Given the description of an element on the screen output the (x, y) to click on. 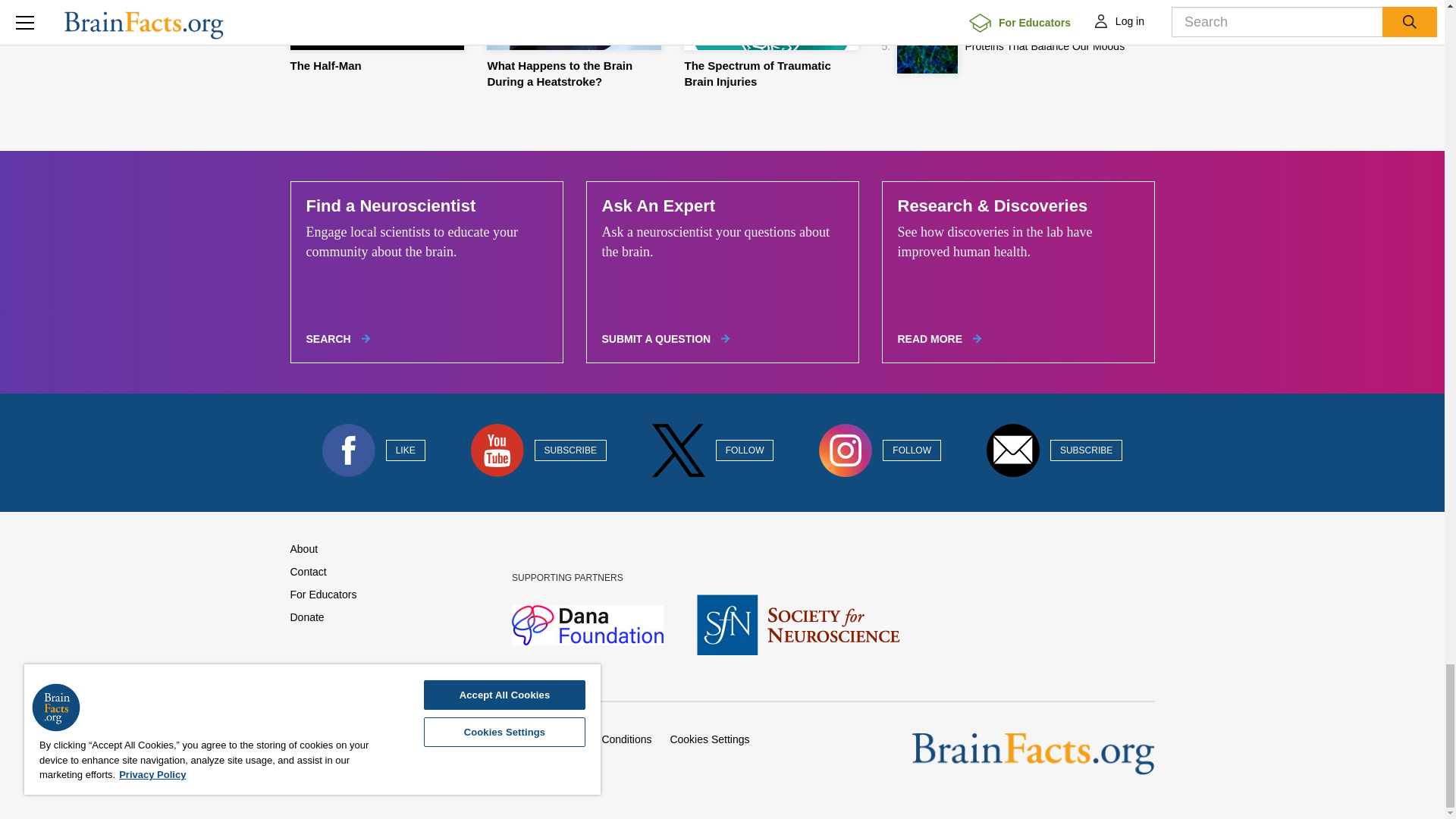
Society for Neuroscience (798, 623)
The Dana Foundation (589, 623)
